Given the description of an element on the screen output the (x, y) to click on. 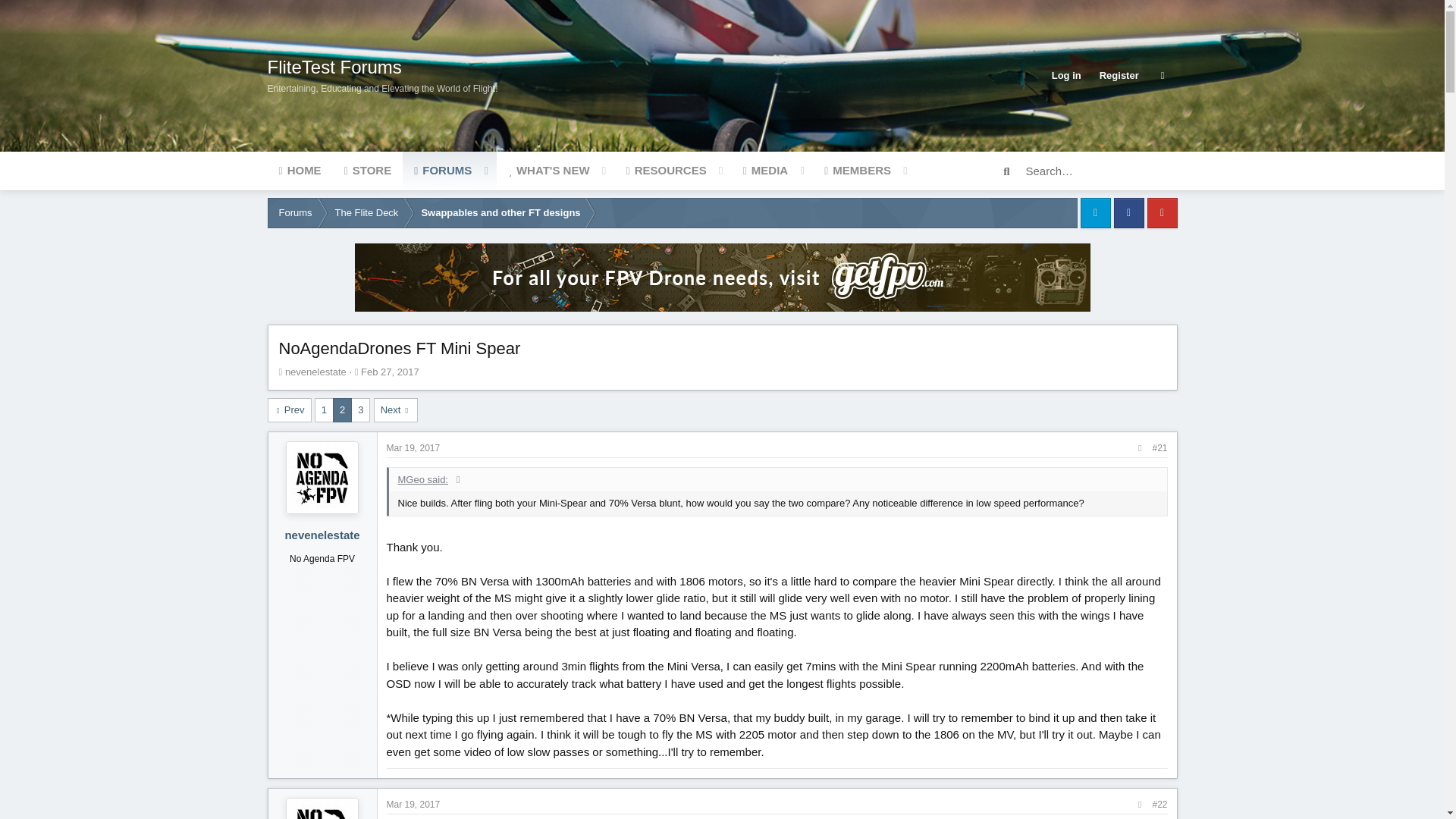
Mar 19, 2017 at 11:25 AM (590, 187)
Register (414, 448)
HOME (1119, 75)
RESOURCES (298, 170)
Feb 27, 2017 at 8:10 PM (590, 170)
Log in (665, 170)
STORE (390, 370)
MEDIA (1066, 75)
WHAT'S NEW (368, 170)
Mar 19, 2017 at 1:37 PM (765, 170)
FORUMS (547, 170)
